Given the description of an element on the screen output the (x, y) to click on. 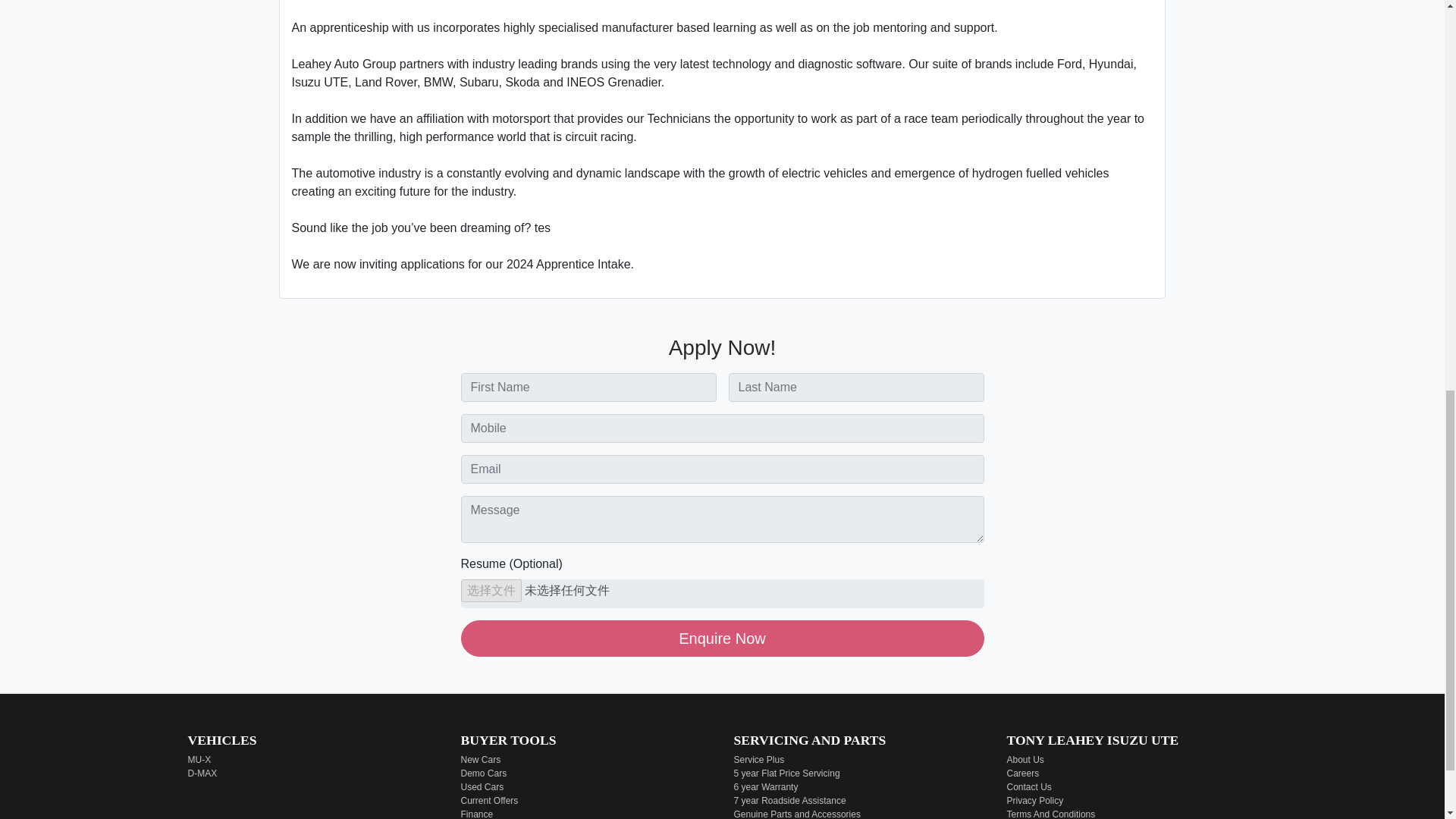
7 year Roadside Assistance (789, 800)
Demo Cars (483, 773)
About Us (1025, 759)
MU-X (199, 759)
Genuine Parts and Accessories (796, 814)
Enquire Now (722, 637)
5 year Flat Price Servicing (786, 773)
Privacy Policy (1035, 800)
D-MAX (201, 773)
Terms And Conditions (1051, 814)
